Given the description of an element on the screen output the (x, y) to click on. 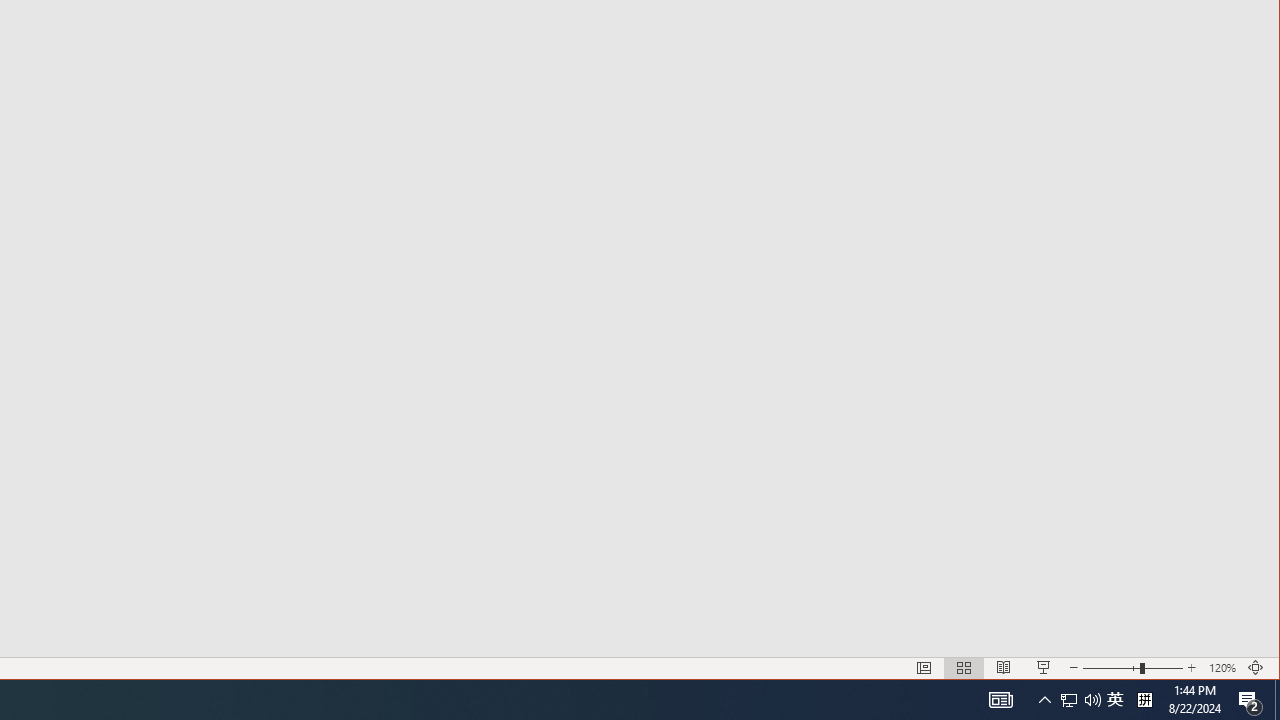
Zoom 120% (1222, 668)
